Given the description of an element on the screen output the (x, y) to click on. 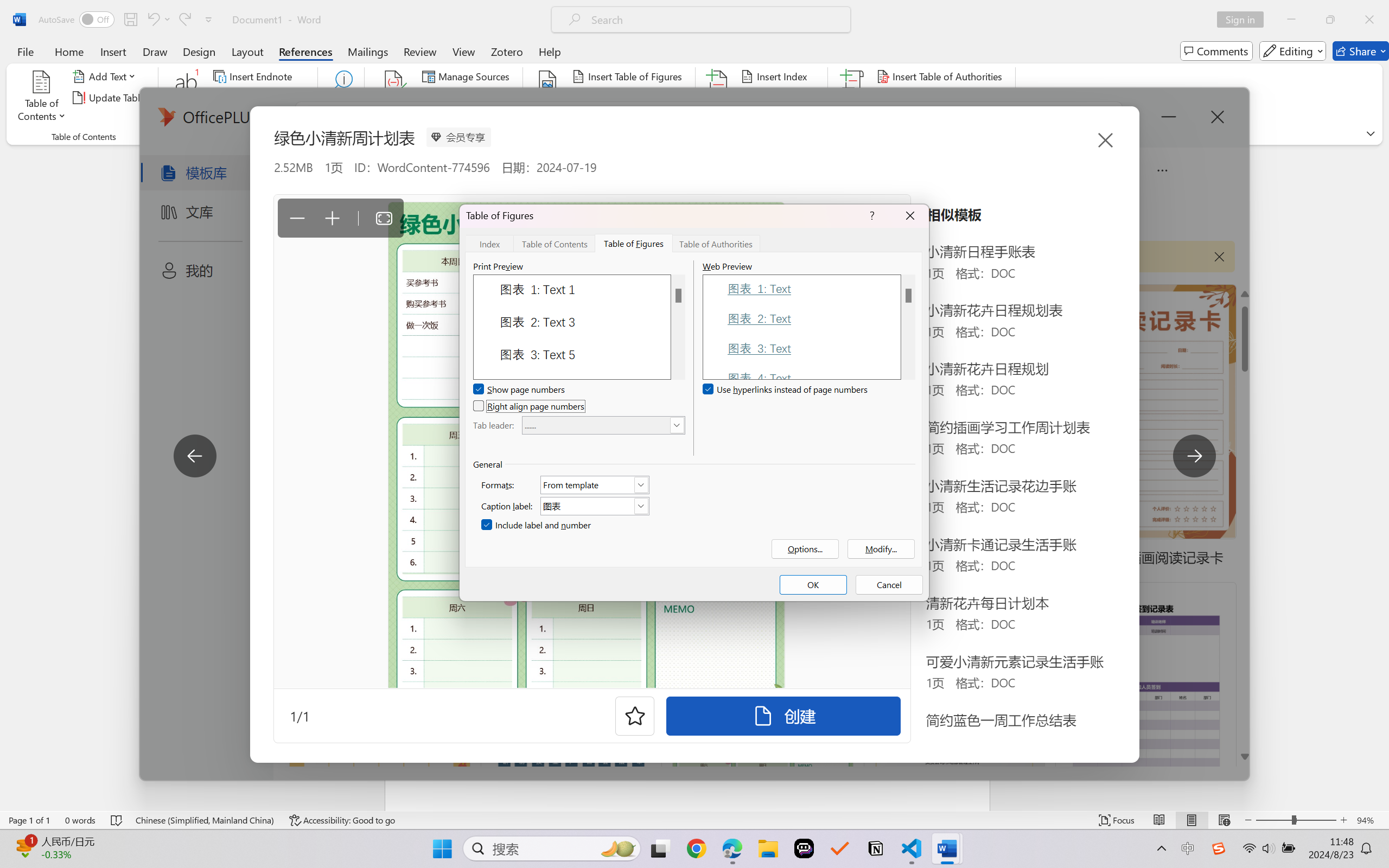
Sign in (1244, 19)
Web Preview (908, 327)
Options... (804, 548)
